Given the description of an element on the screen output the (x, y) to click on. 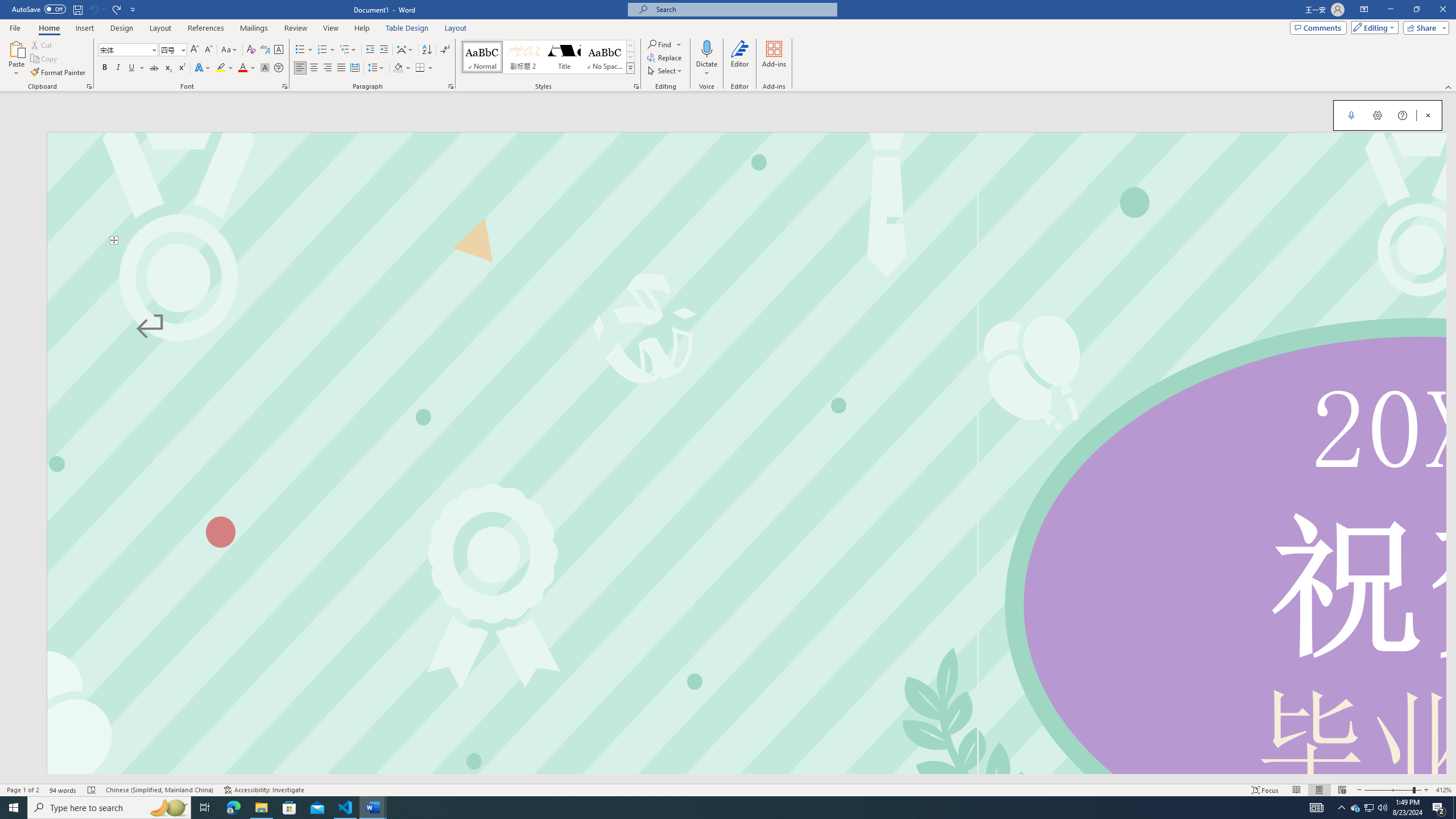
File Tab (15, 27)
Line and Paragraph Spacing (376, 67)
Help (361, 28)
Focus  (1265, 790)
Print Layout (1318, 790)
Strikethrough (154, 67)
Font Size (169, 49)
Text Highlight Color (224, 67)
Align Left (300, 67)
Dictate (706, 58)
AutoSave (38, 9)
Read Mode (1296, 790)
Can't Undo (92, 9)
